Given the description of an element on the screen output the (x, y) to click on. 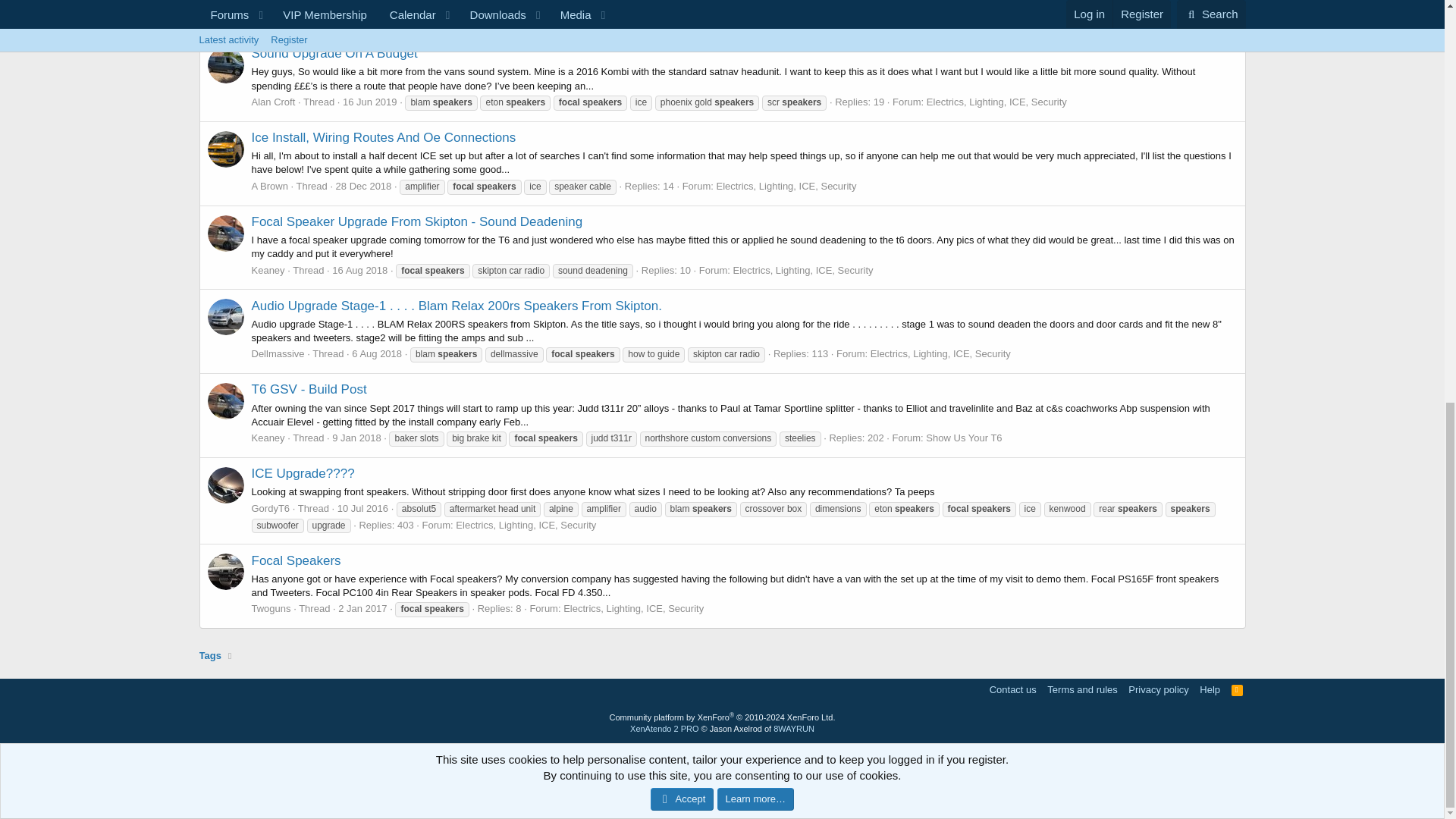
2 Jan 2017 at 13:12 (362, 608)
16 Aug 2018 at 20:37 (359, 270)
9 Jan 2018 at 23:39 (355, 437)
10 Jul 2016 at 09:27 (362, 508)
28 Dec 2018 at 08:44 (363, 185)
6 Aug 2018 at 14:25 (376, 353)
16 Jun 2019 at 10:06 (369, 101)
18 Jun 2017 at 20:56 (364, 4)
RSS (1237, 689)
